Given the description of an element on the screen output the (x, y) to click on. 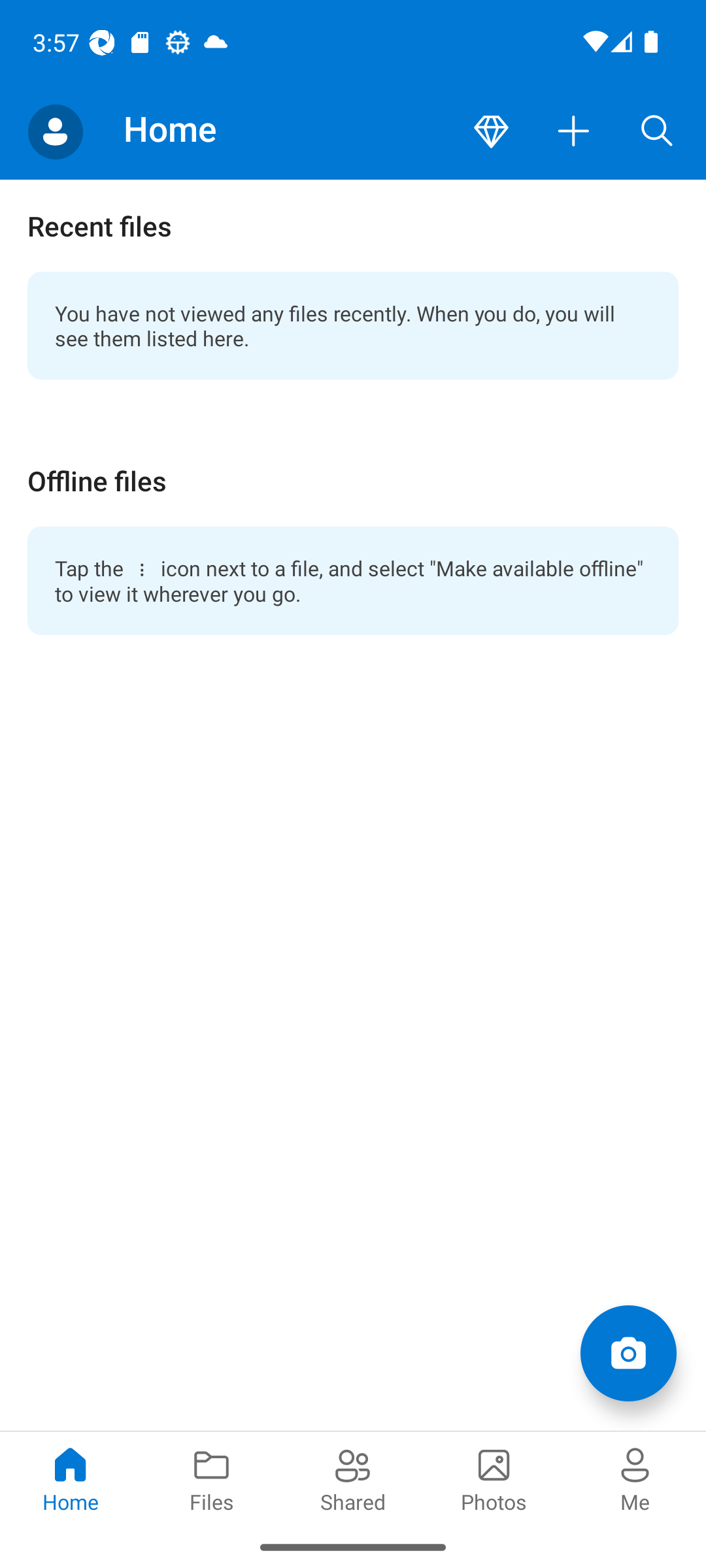
Account switcher (55, 131)
Premium button (491, 131)
More actions button (574, 131)
Search button (656, 131)
Scan (628, 1352)
Files pivot Files (211, 1478)
Shared pivot Shared (352, 1478)
Photos pivot Photos (493, 1478)
Me pivot Me (635, 1478)
